Given the description of an element on the screen output the (x, y) to click on. 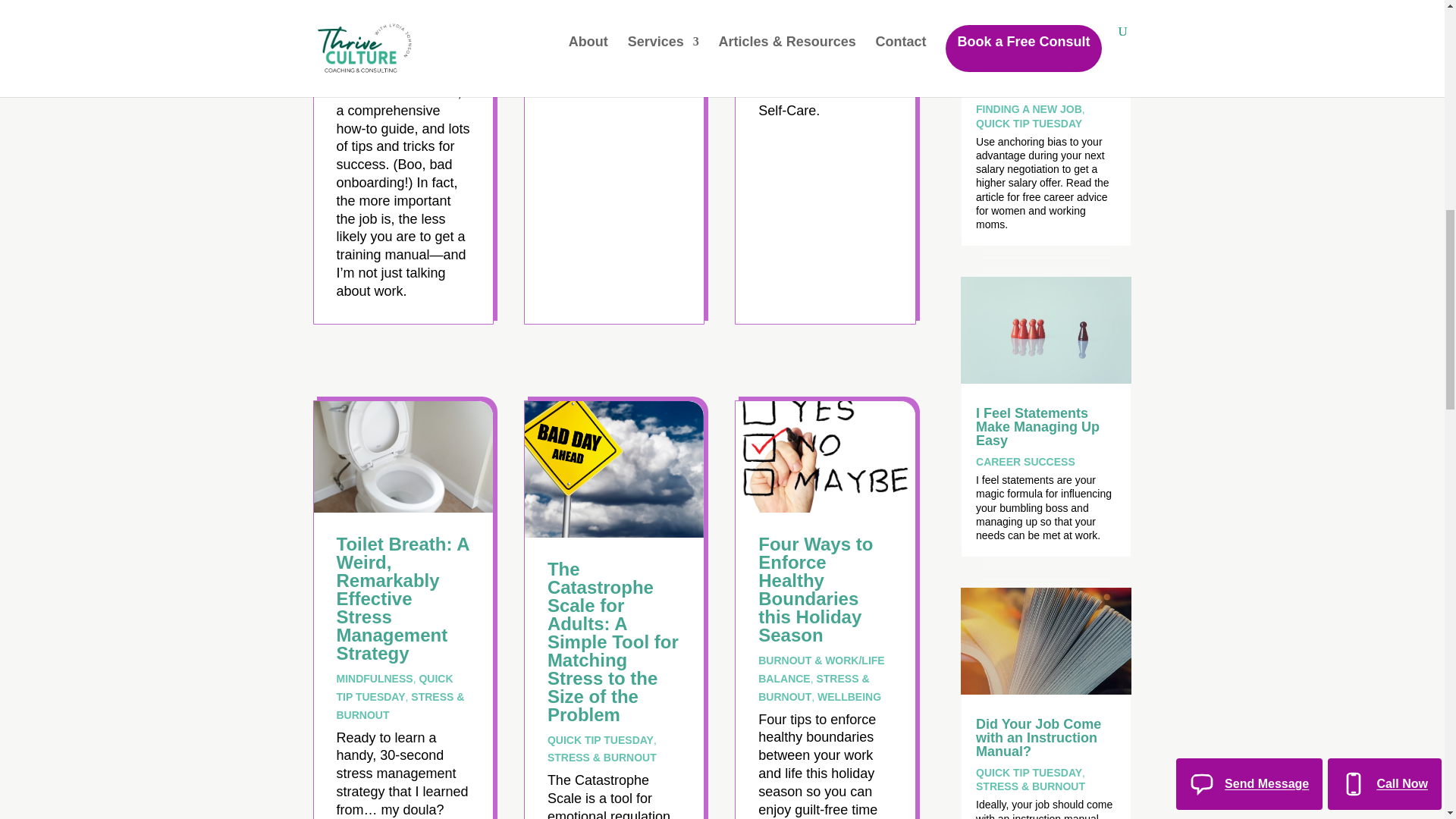
QUICK TIP TUESDAY (394, 687)
QUICK TIP TUESDAY (600, 739)
MINDFULNESS (374, 678)
Four Ways to Enforce Healthy Boundaries this Holiday Season (815, 589)
